Given the description of an element on the screen output the (x, y) to click on. 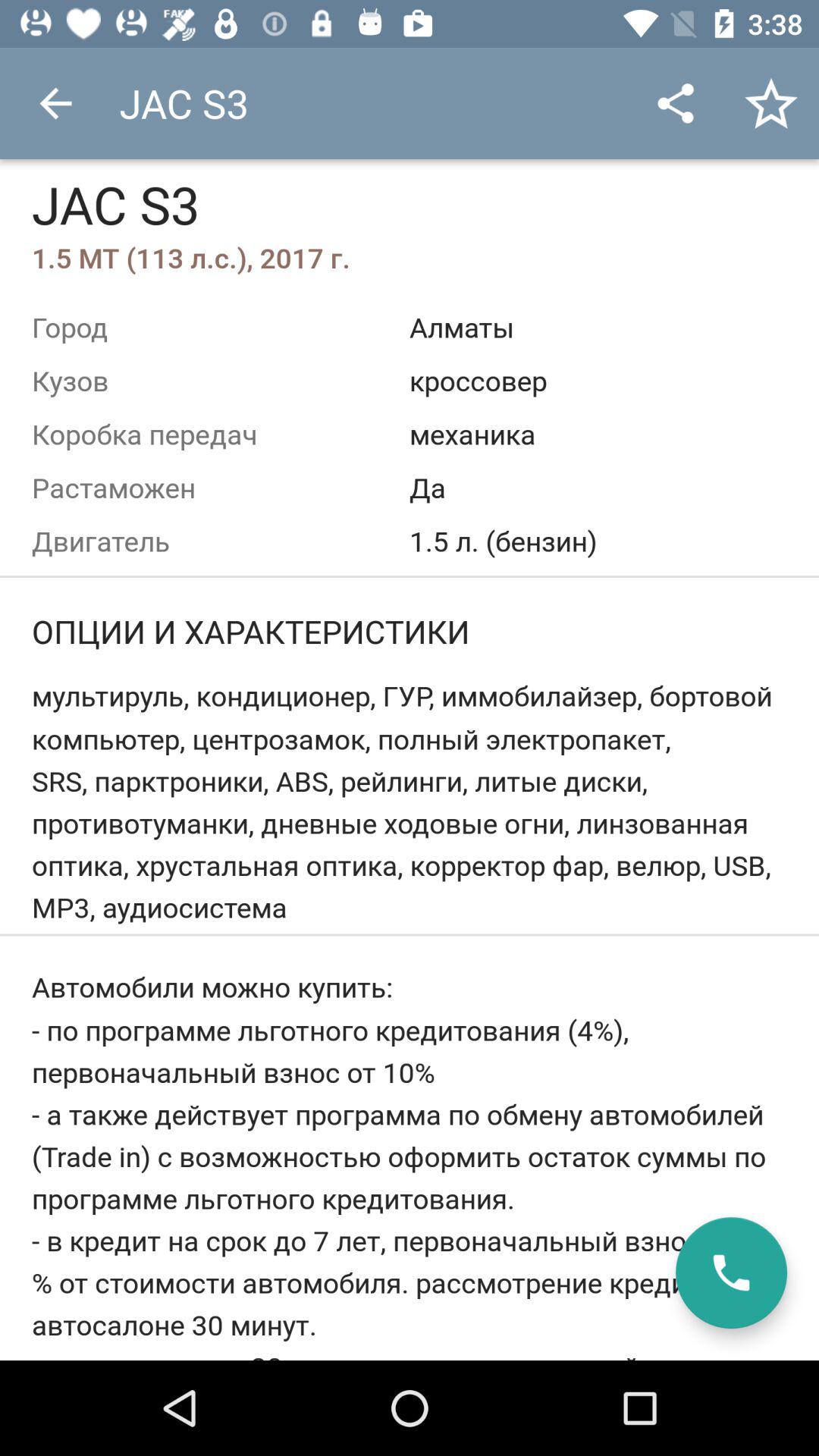
open item above jac s3 item (55, 103)
